Given the description of an element on the screen output the (x, y) to click on. 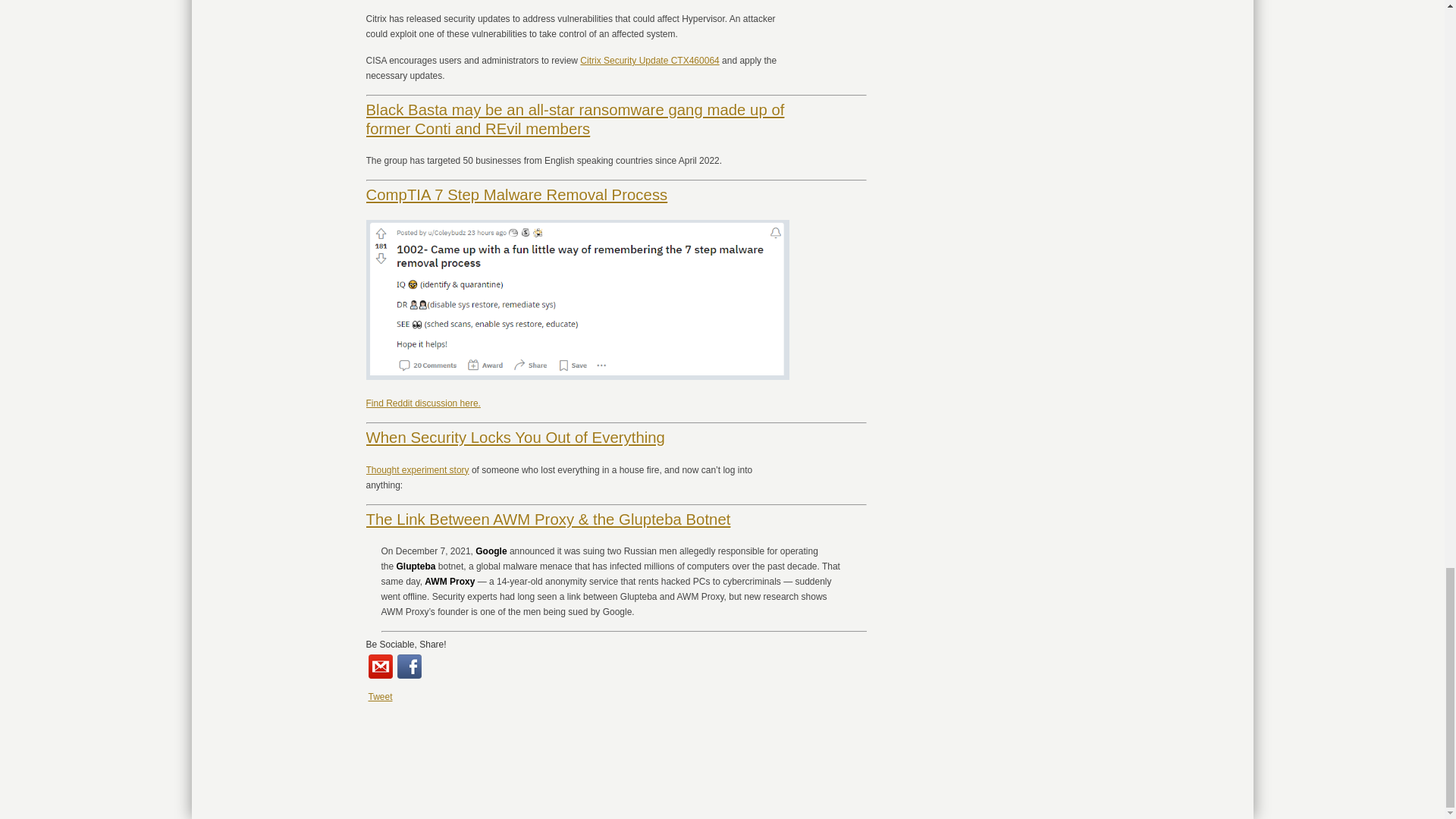
Facebook (409, 666)
email (380, 666)
